Given the description of an element on the screen output the (x, y) to click on. 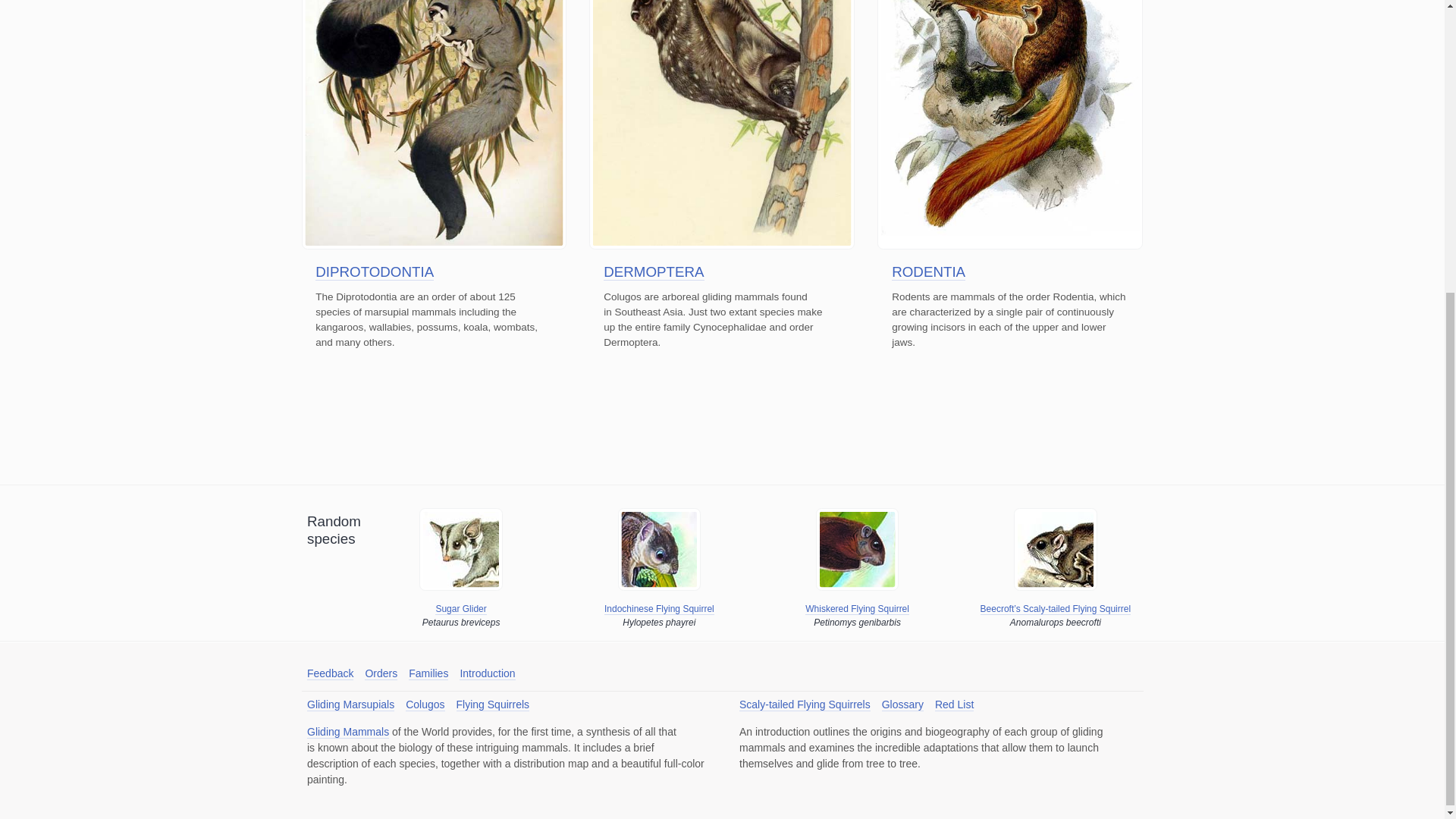
Whiskered Flying Squirrel (856, 609)
Colugos (425, 704)
Feedback (330, 673)
Introduction (487, 673)
Sugar Glider (460, 609)
Indochinese Flying Squirrel (659, 609)
Families (428, 673)
Gliding Marsupials (350, 704)
DERMOPTERA (653, 271)
RODENTIA (928, 271)
Scaly-tailed Flying Squirrels (804, 704)
Flying Squirrels (493, 704)
Red List (954, 704)
DIPROTODONTIA (374, 271)
Orders (381, 673)
